Given the description of an element on the screen output the (x, y) to click on. 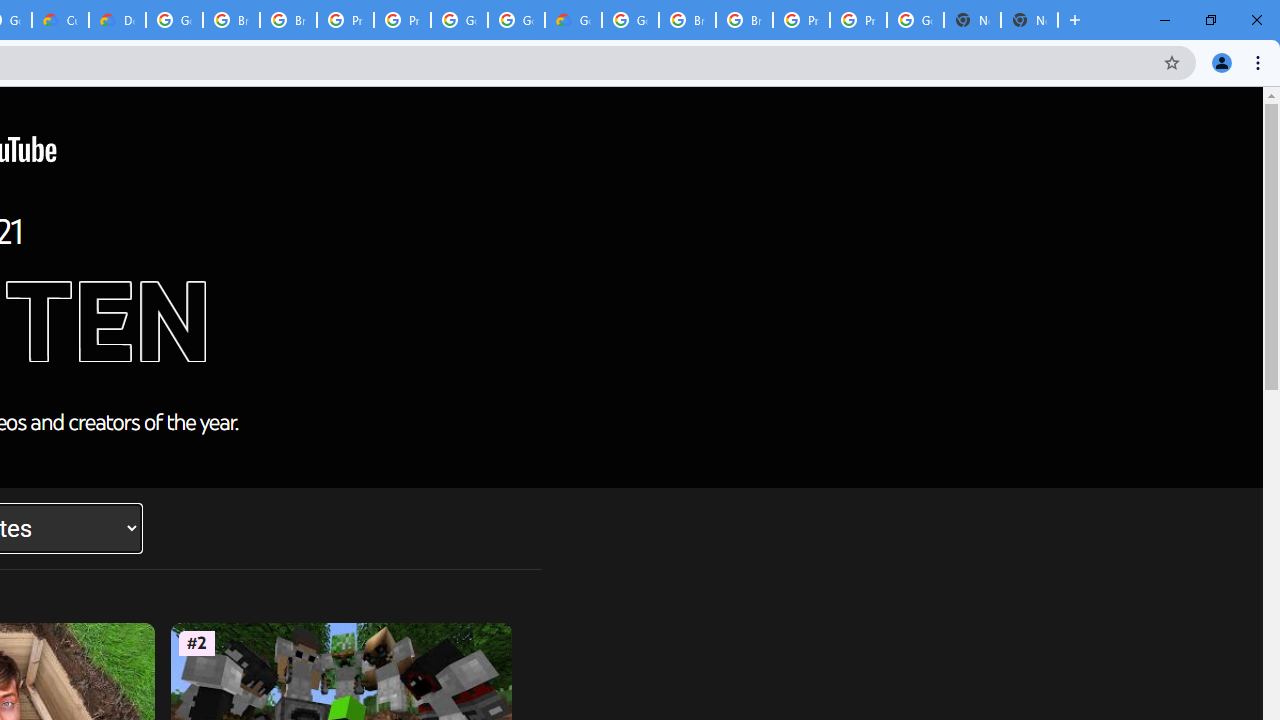
Google Cloud Platform (516, 20)
New Tab (1029, 20)
Browse Chrome as a guest - Computer - Google Chrome Help (231, 20)
Customer Care | Google Cloud (60, 20)
Google Cloud Platform (630, 20)
Google Cloud Platform (174, 20)
